Given the description of an element on the screen output the (x, y) to click on. 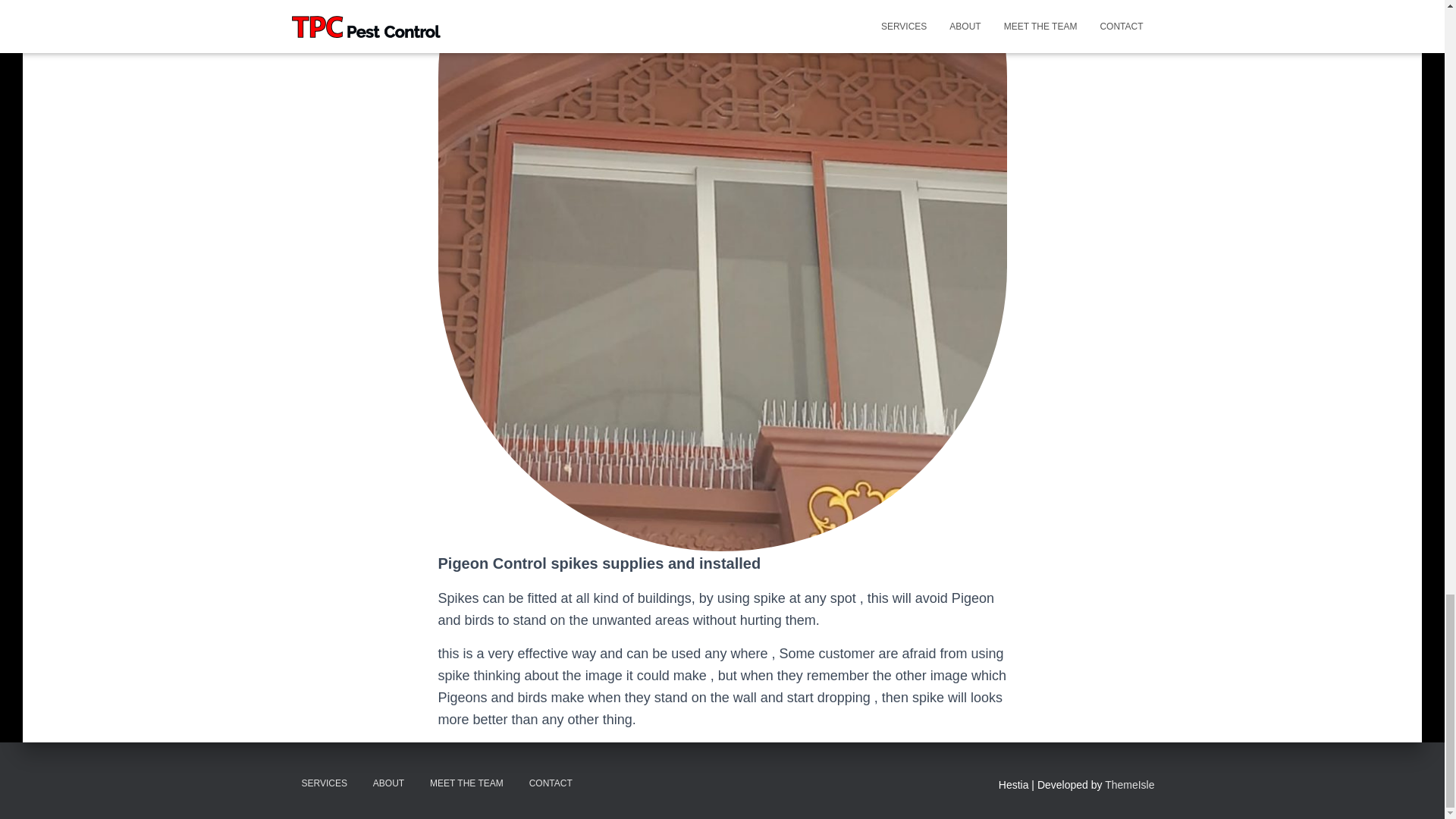
ThemeIsle (1129, 784)
CONTACT (550, 783)
MEET THE TEAM (467, 783)
SERVICES (323, 783)
ABOUT (387, 783)
